Given the description of an element on the screen output the (x, y) to click on. 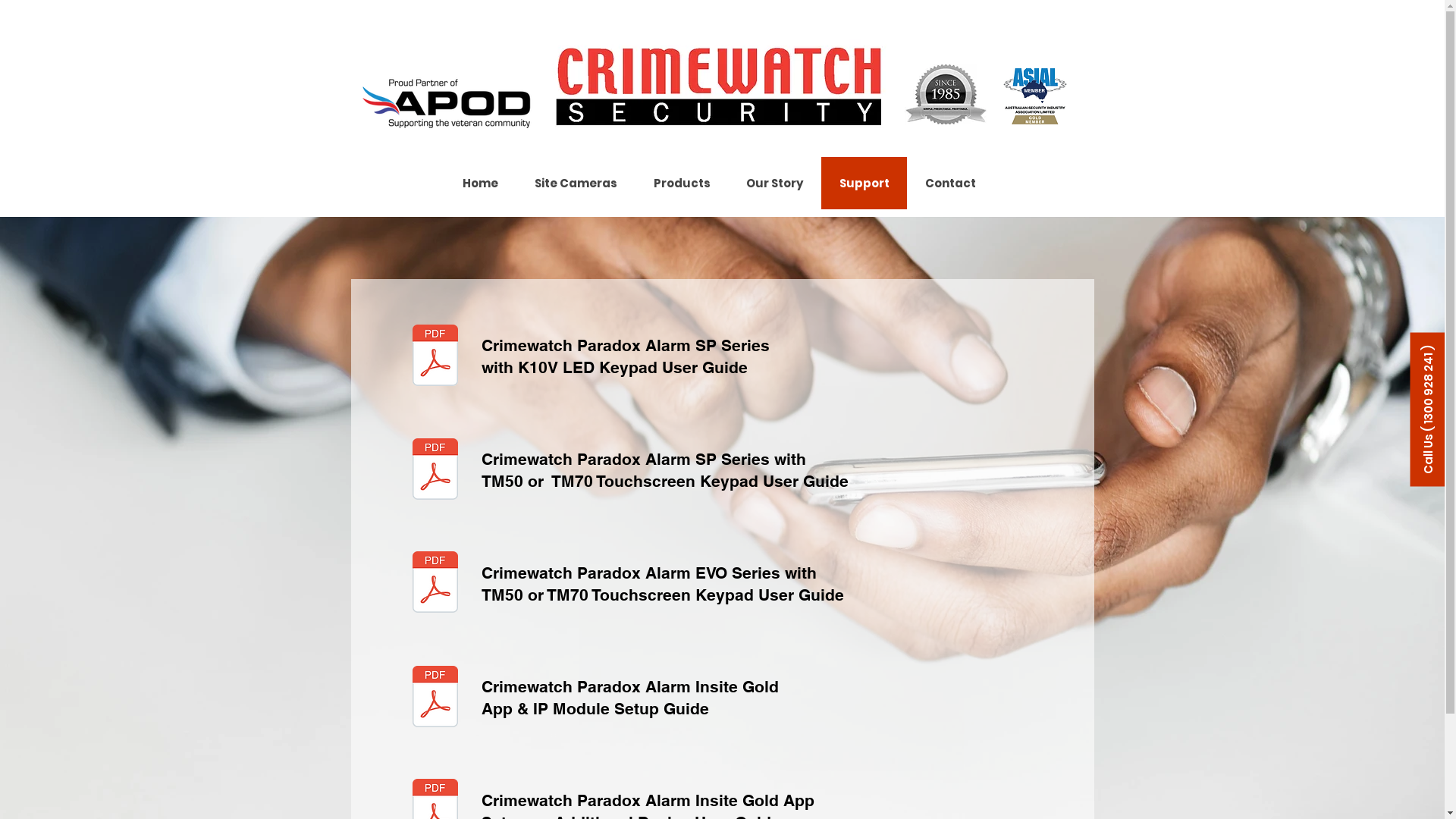
Support Element type: text (863, 182)
crimewatch.png Element type: hover (718, 88)
Site Cameras Element type: text (574, 182)
Home Element type: text (479, 182)
Contact Element type: text (949, 182)
Our Story Element type: text (774, 182)
Products Element type: text (681, 182)
